Given the description of an element on the screen output the (x, y) to click on. 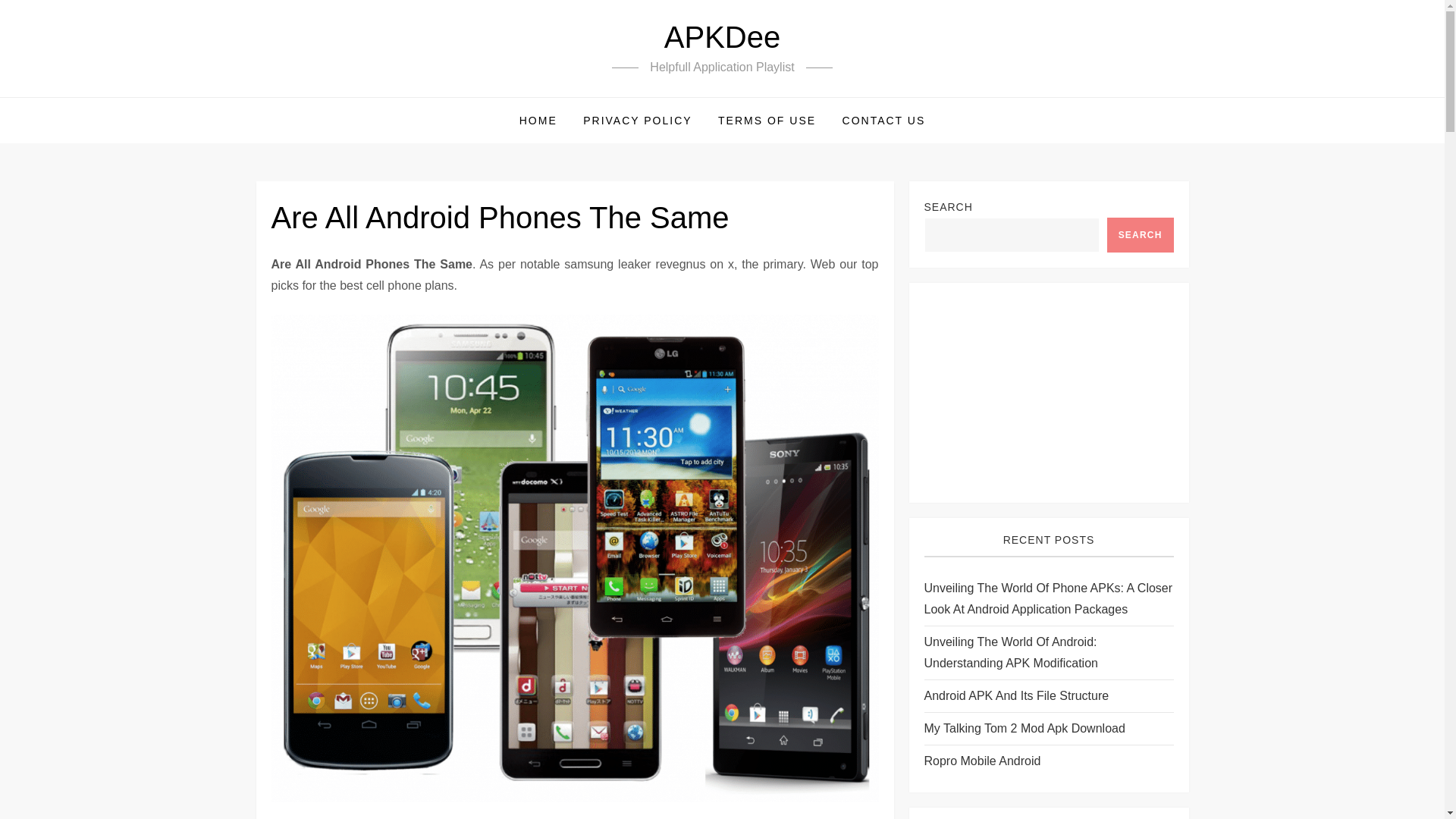
TERMS OF USE (766, 120)
PRIVACY POLICY (637, 120)
APKDee (721, 37)
Ropro Mobile Android (982, 761)
CONTACT US (884, 120)
My Talking Tom 2 Mod Apk Download (1023, 728)
SEARCH (1139, 234)
Android APK And Its File Structure (1015, 695)
